Given the description of an element on the screen output the (x, y) to click on. 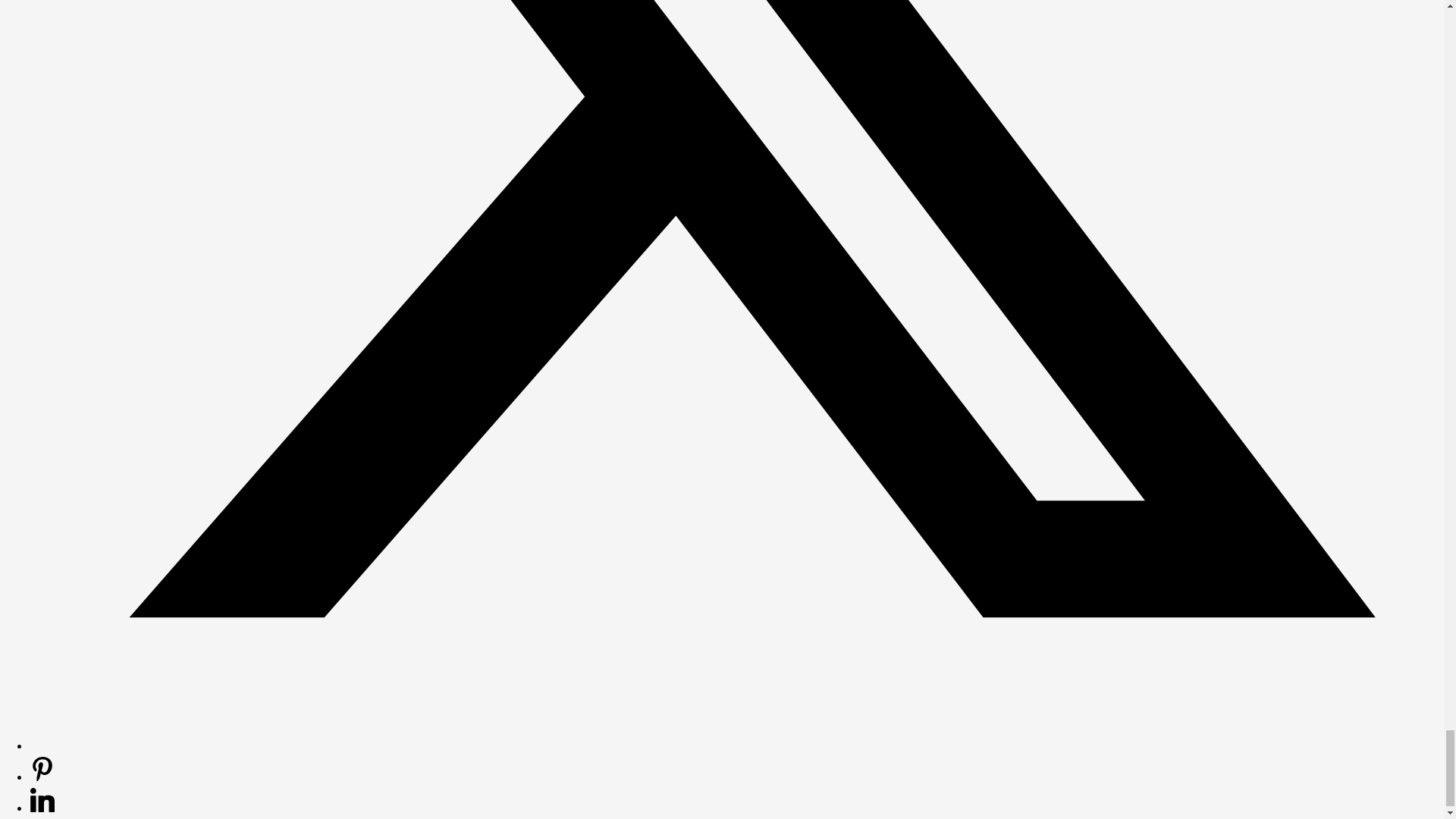
Share on LinkedIn (42, 807)
Share on Pinterest (42, 776)
